Given the description of an element on the screen output the (x, y) to click on. 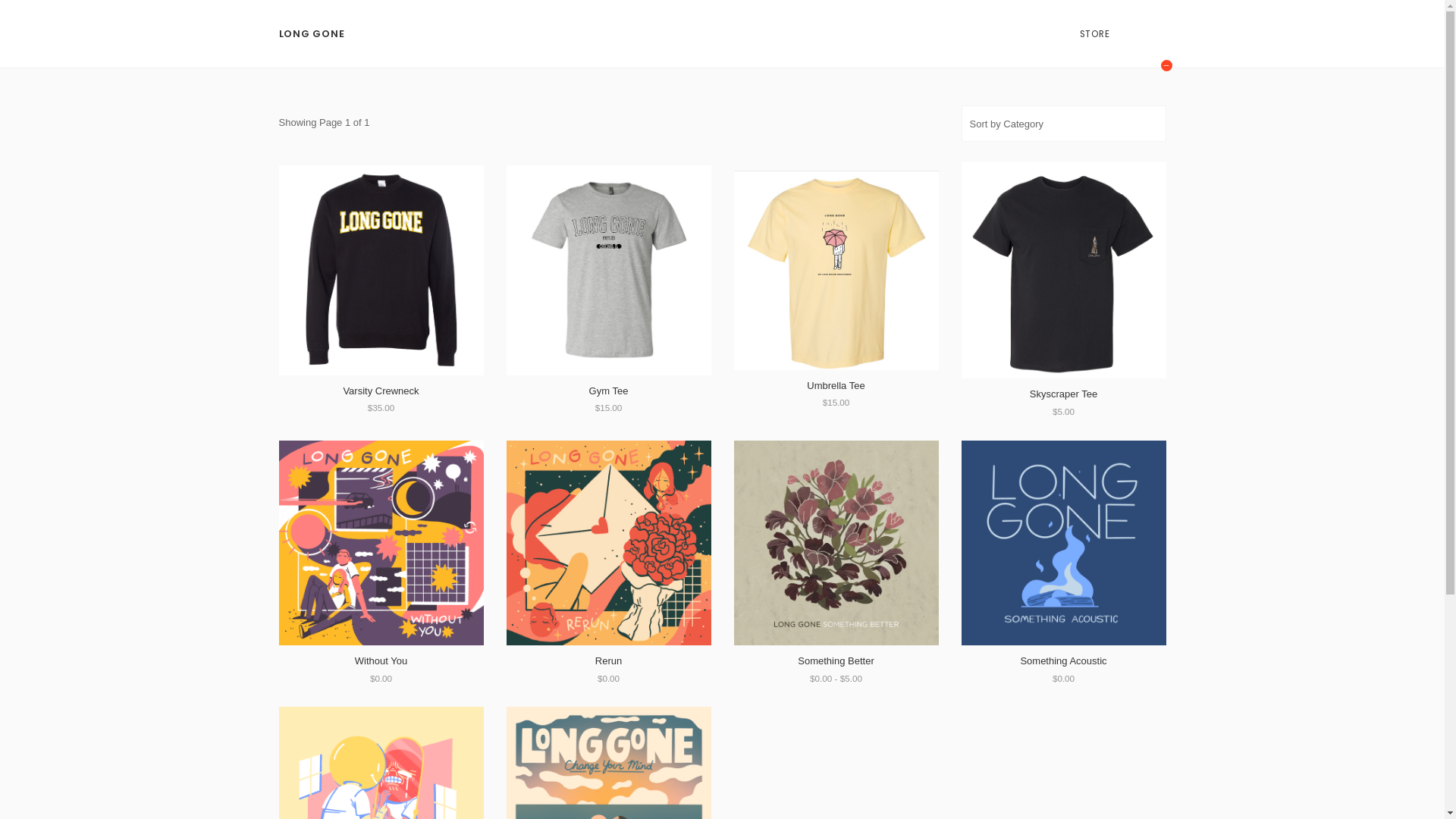
Gym Tee Element type: text (608, 390)
Something Acoustic Element type: text (1062, 660)
Rerun Element type: text (608, 660)
Umbrella Tee Element type: text (835, 384)
LONG GONE Element type: text (312, 34)
Varsity Crewneck Element type: text (380, 390)
Without You Element type: text (380, 660)
STORE Element type: text (1094, 34)
Skyscraper Tee Element type: text (1063, 393)
Something Better Element type: text (835, 660)
